Given the description of an element on the screen output the (x, y) to click on. 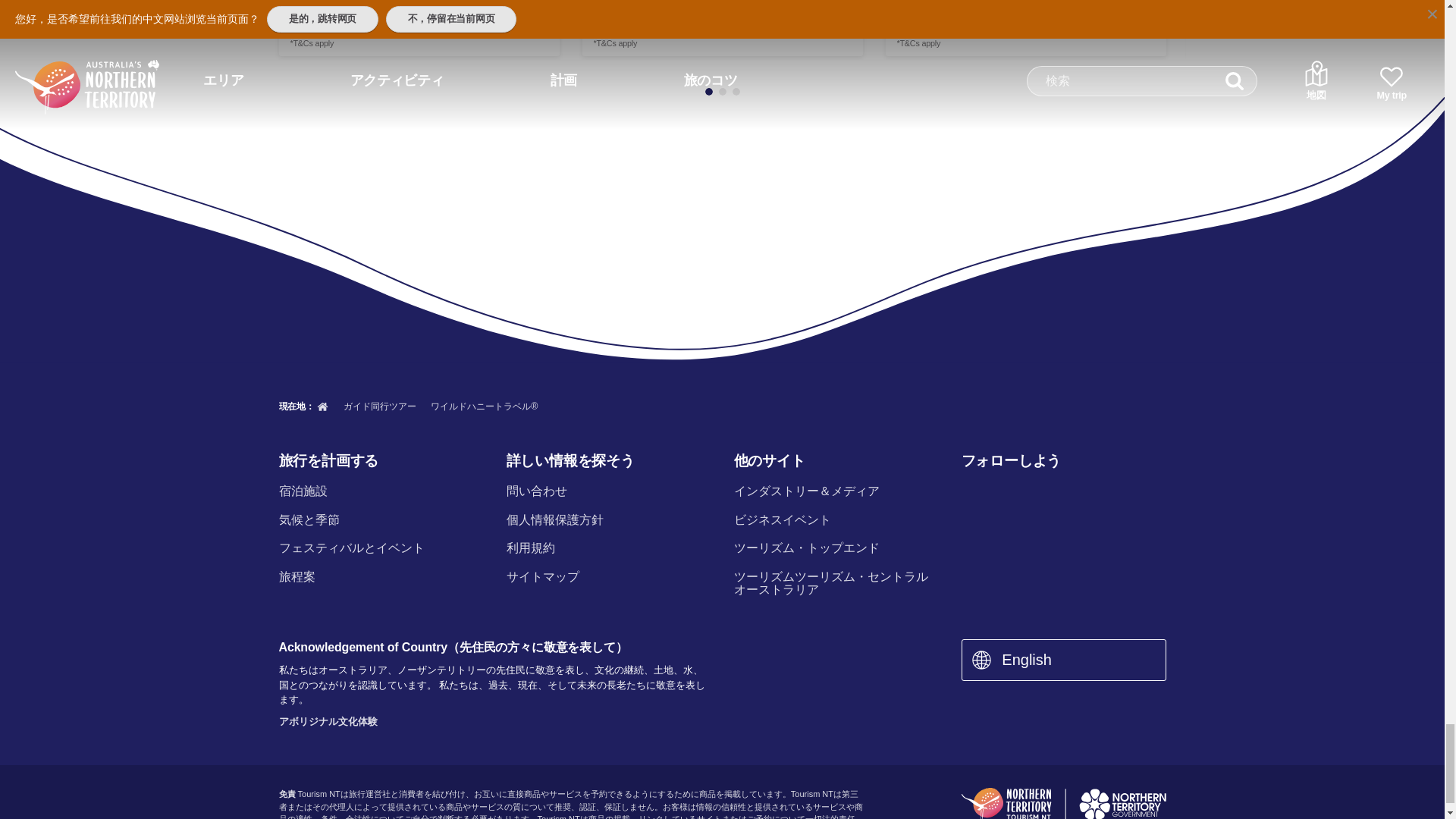
Facebook (970, 492)
Instagram (1009, 492)
